Given the description of an element on the screen output the (x, y) to click on. 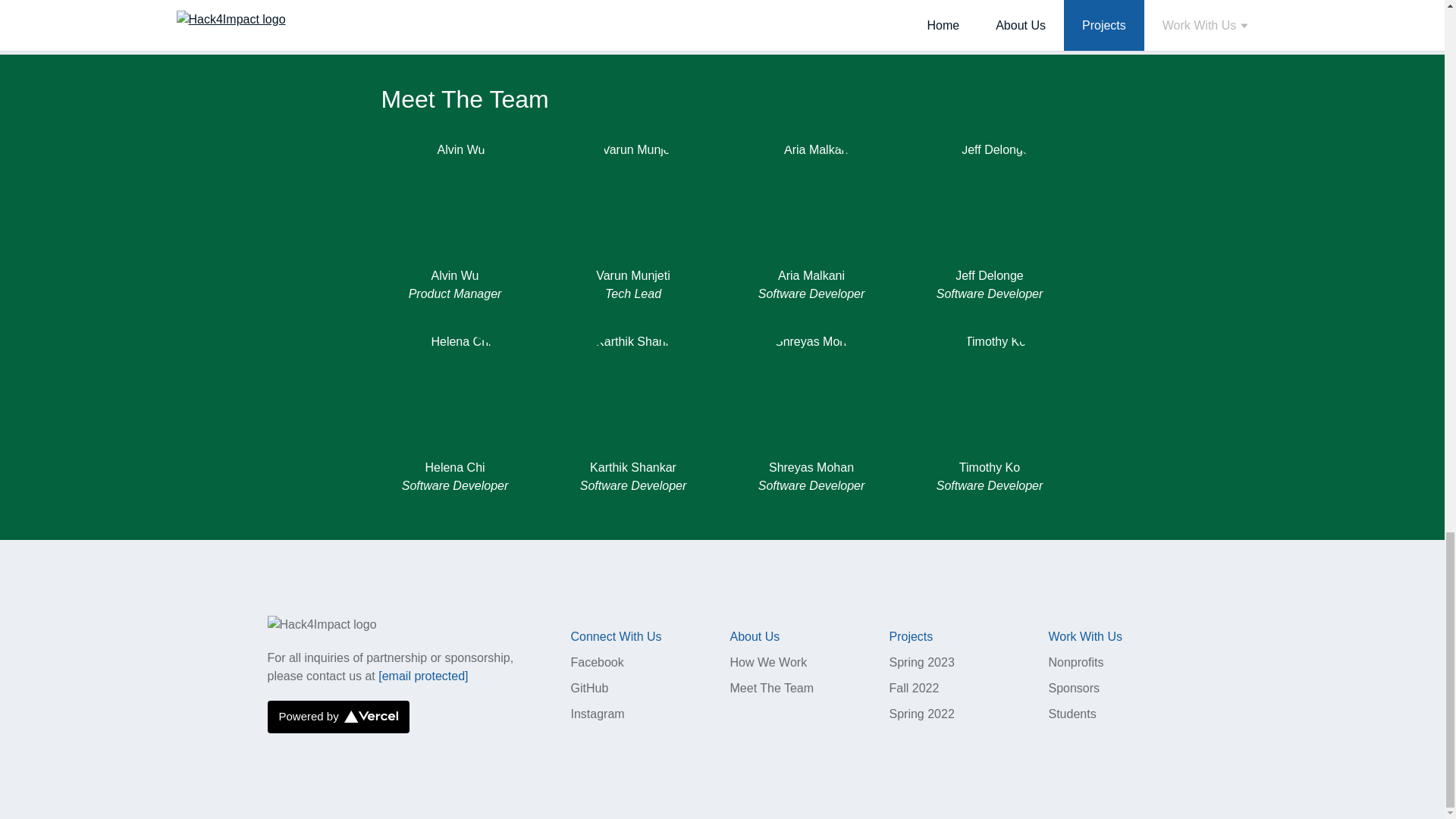
Fall 2022 (913, 687)
Spring 2022 (920, 713)
Students (1072, 713)
GitHub (589, 687)
Facebook (596, 662)
Powered by (337, 717)
How We Work (767, 662)
About Us (753, 635)
Instagram (597, 713)
Spring 2023 (920, 662)
Projects (910, 635)
Meet The Team (771, 687)
Sponsors (1073, 687)
Nonprofits (1075, 662)
